Given the description of an element on the screen output the (x, y) to click on. 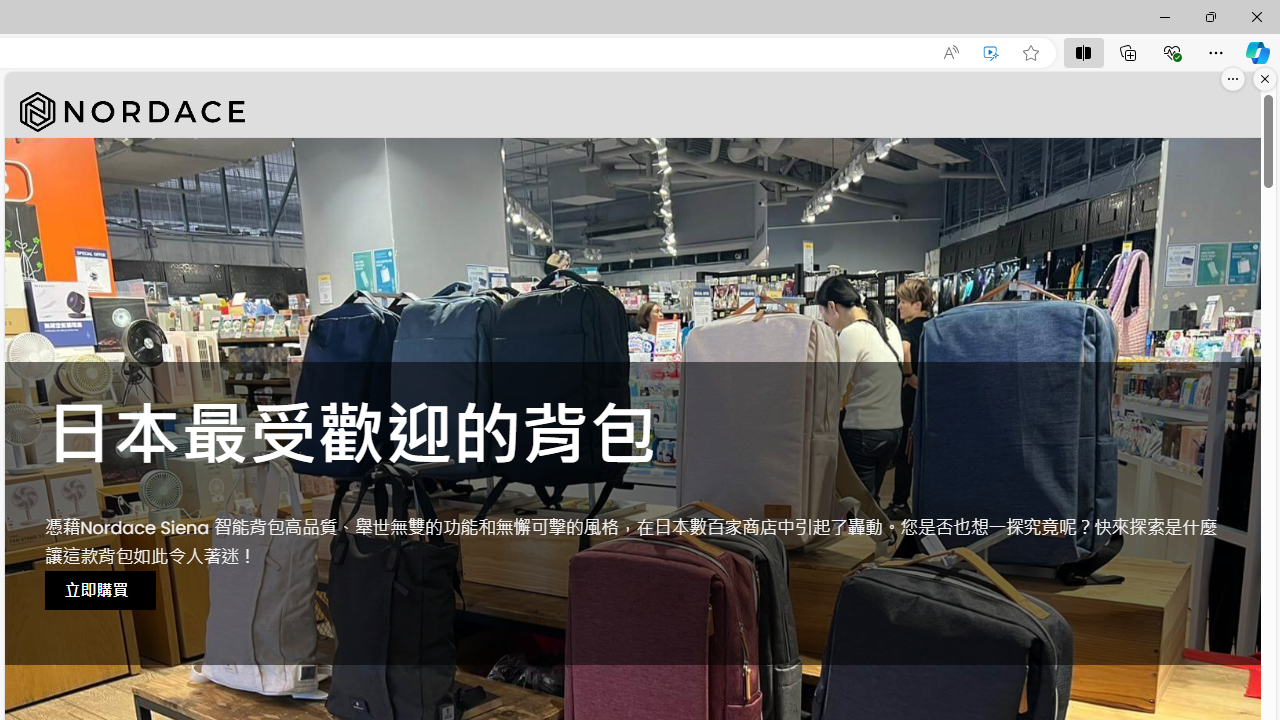
More options. (1233, 79)
Enhance video (991, 53)
